Given the description of an element on the screen output the (x, y) to click on. 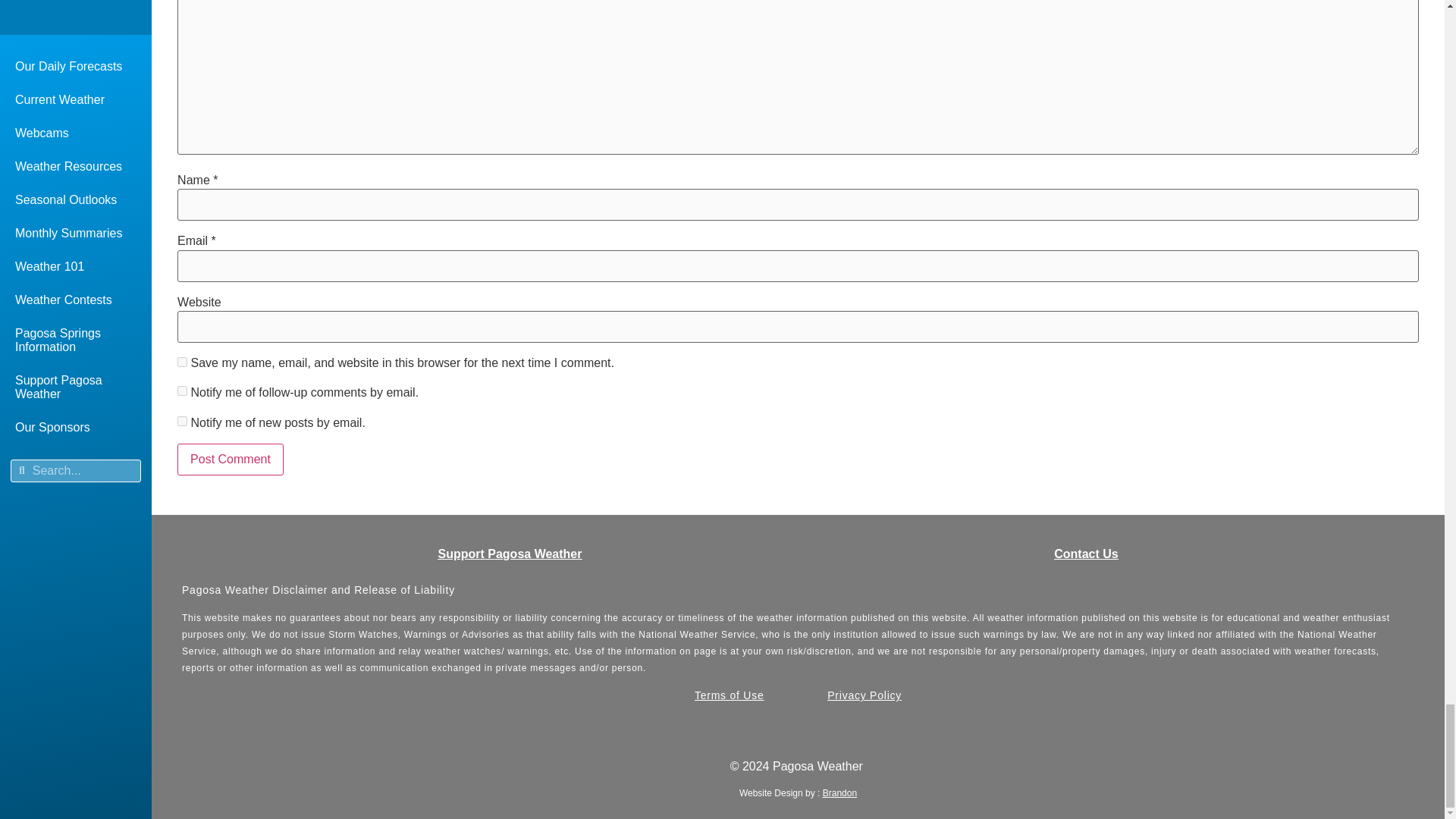
yes (182, 361)
subscribe (182, 420)
subscribe (182, 390)
Post Comment (230, 459)
